Given the description of an element on the screen output the (x, y) to click on. 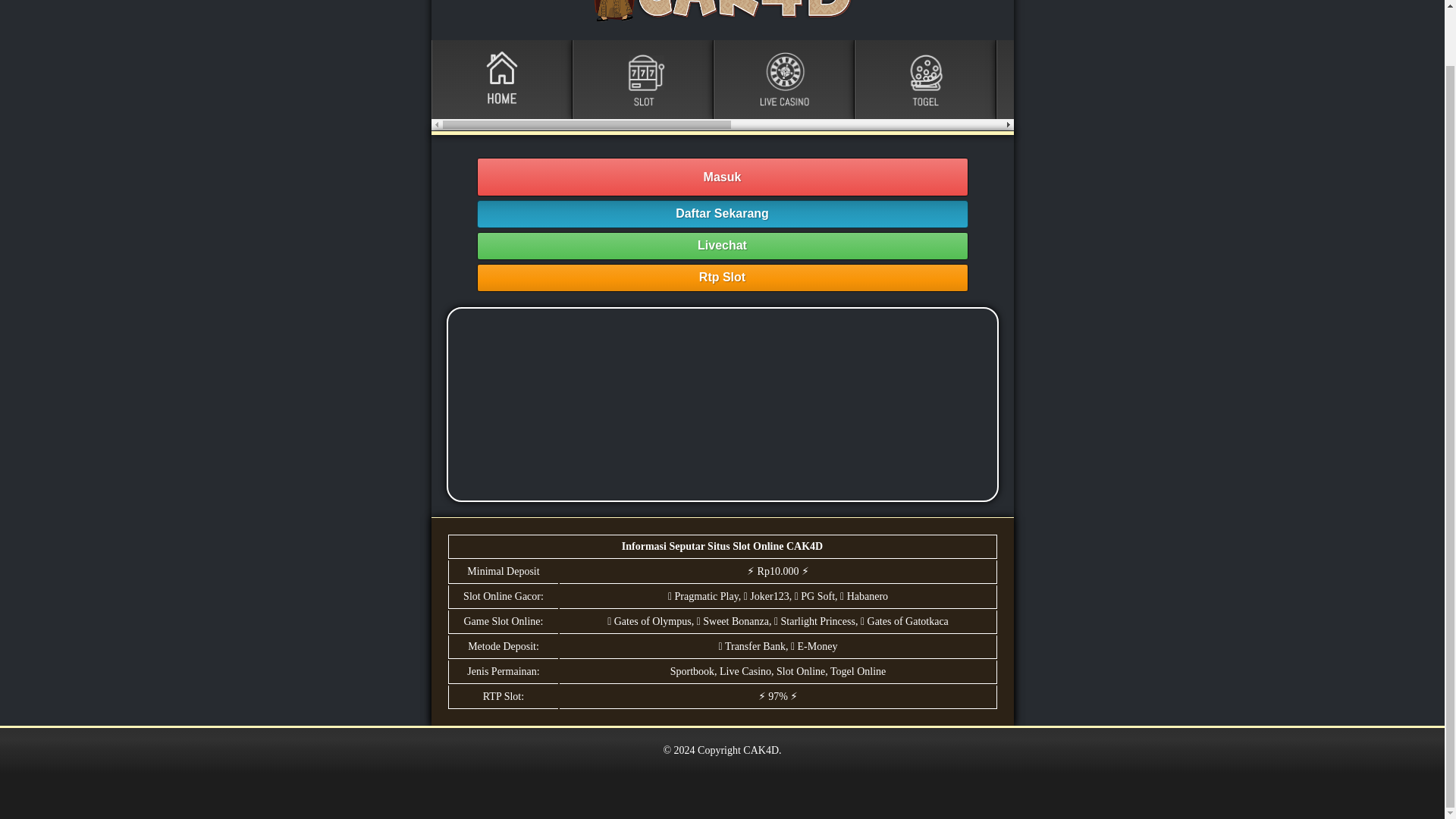
Masuk (722, 177)
Rtp Slot (722, 277)
situs judi slot online gacor 2023 (720, 404)
Daftar Sekarang (722, 213)
Livechat (722, 245)
